Given the description of an element on the screen output the (x, y) to click on. 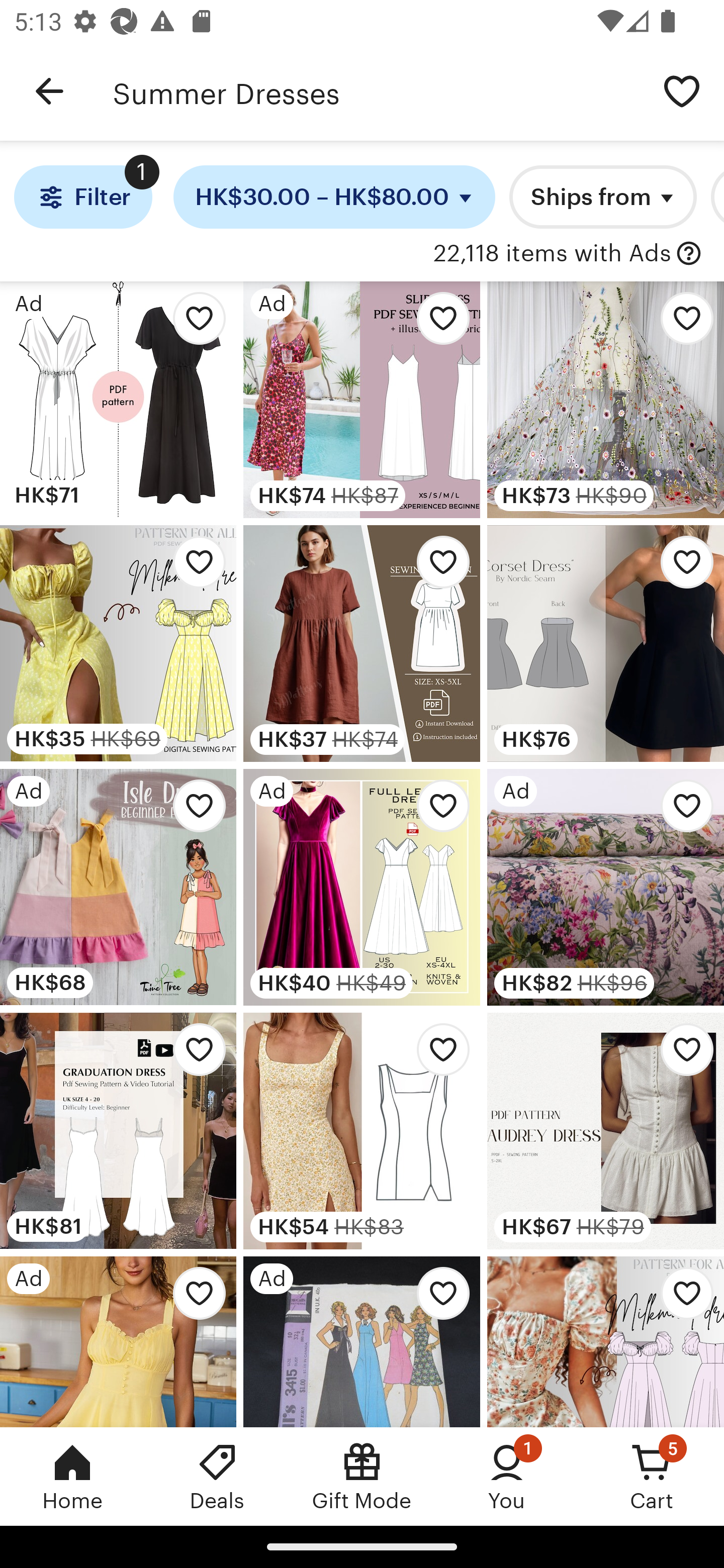
Navigate up (49, 91)
Save search (681, 90)
Summer Dresses (375, 91)
Filter (82, 197)
HK$30.00 – HK$80.00 (334, 197)
Ships from (602, 197)
22,118 items with Ads (552, 253)
with Ads (688, 253)
Add Yellow Spring Mini Dress to favorites (194, 1297)
Add McCall's Summer Dress Pattern to favorites (438, 1297)
Deals (216, 1475)
Gift Mode (361, 1475)
You, 1 new notification You (506, 1475)
Cart, 5 new notifications Cart (651, 1475)
